Given the description of an element on the screen output the (x, y) to click on. 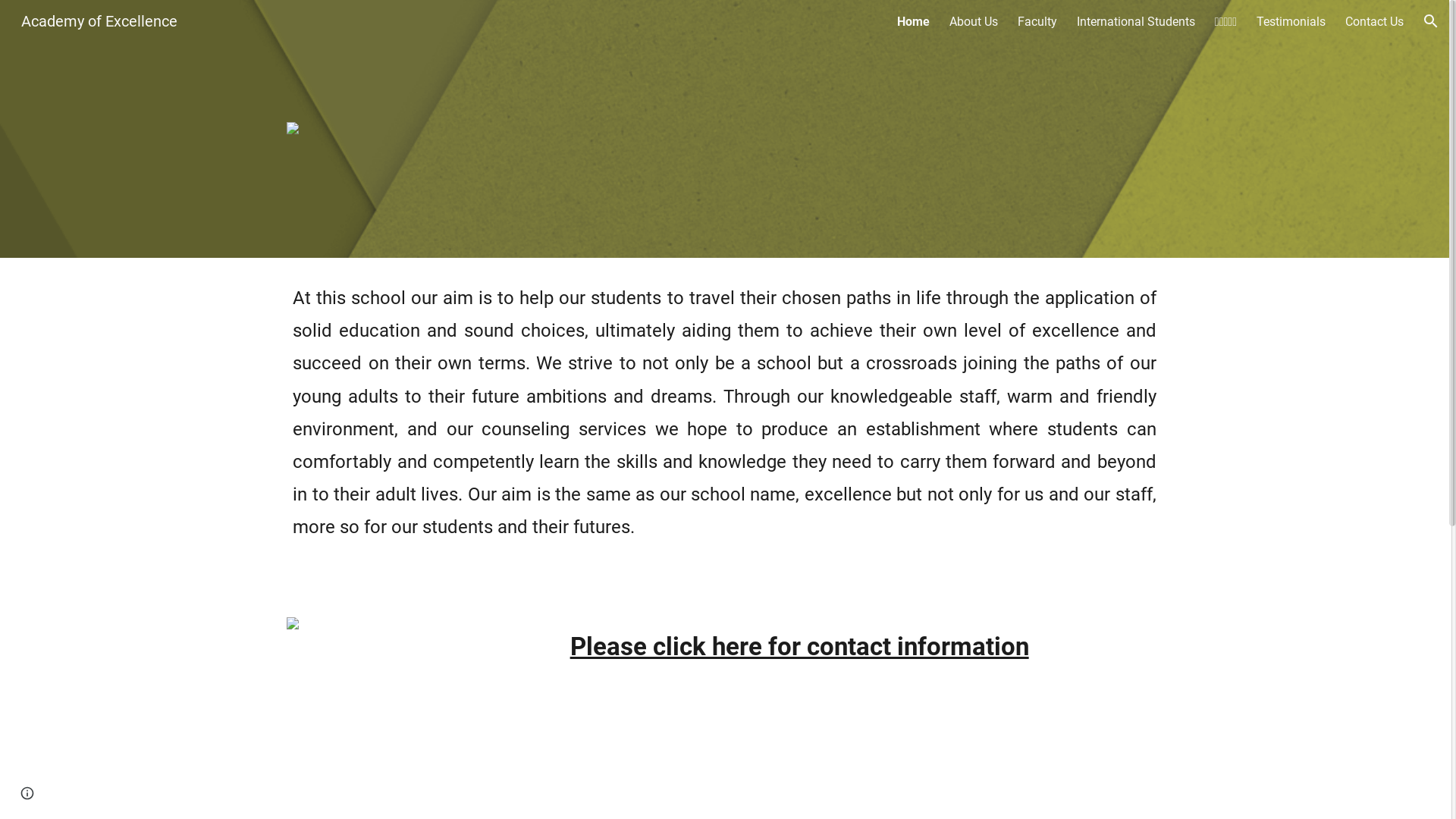
Please click here for contact information Element type: text (799, 645)
Contact Us Element type: text (1374, 20)
Testimonials Element type: text (1290, 20)
Academy of Excellence Element type: text (99, 19)
Faculty Element type: text (1037, 20)
Home Element type: text (913, 20)
About Us Element type: text (973, 20)
International Students Element type: text (1135, 20)
